Given the description of an element on the screen output the (x, y) to click on. 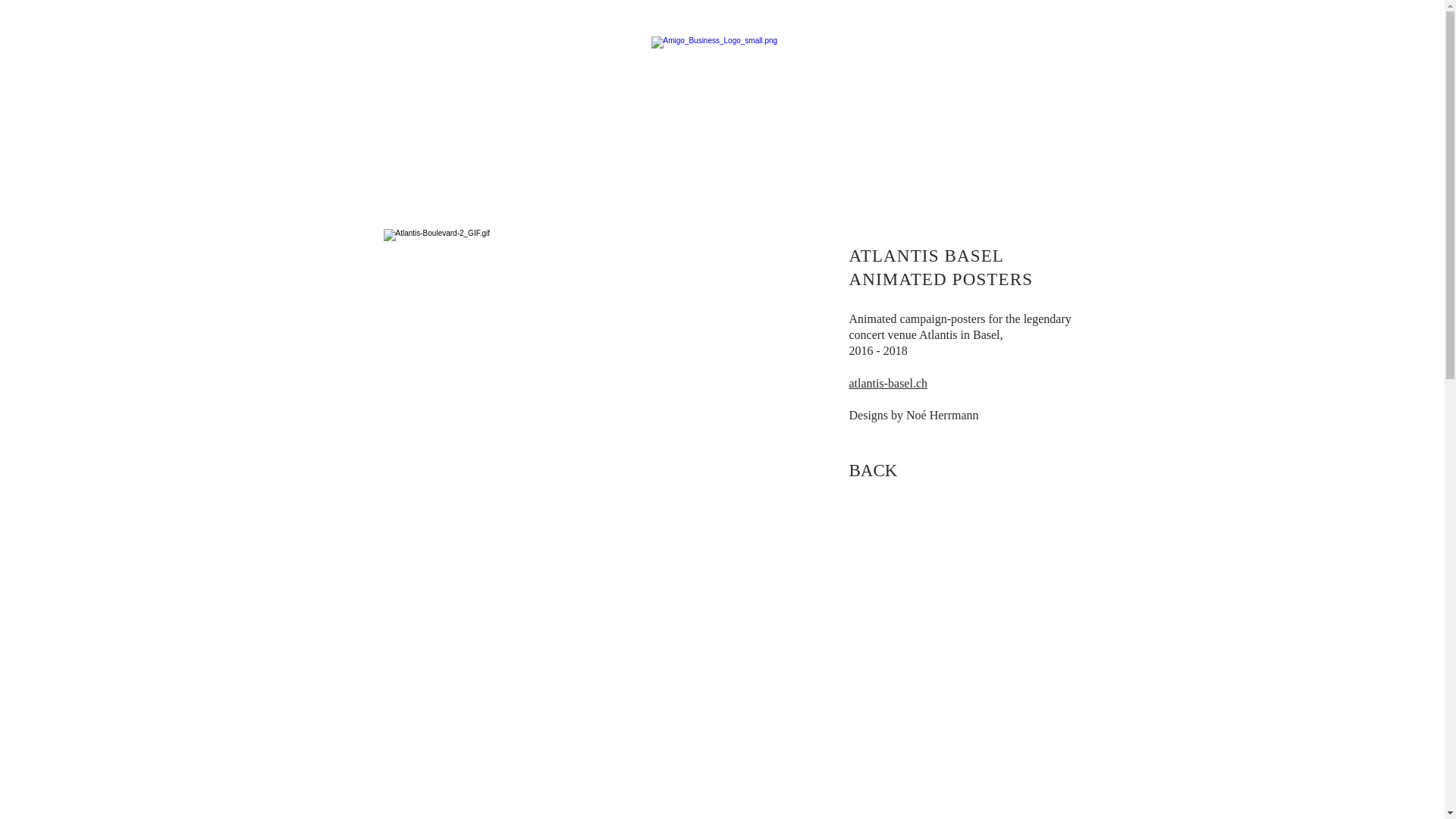
BACK Element type: text (873, 470)
atlantis-basel.ch Element type: text (888, 384)
